Given the description of an element on the screen output the (x, y) to click on. 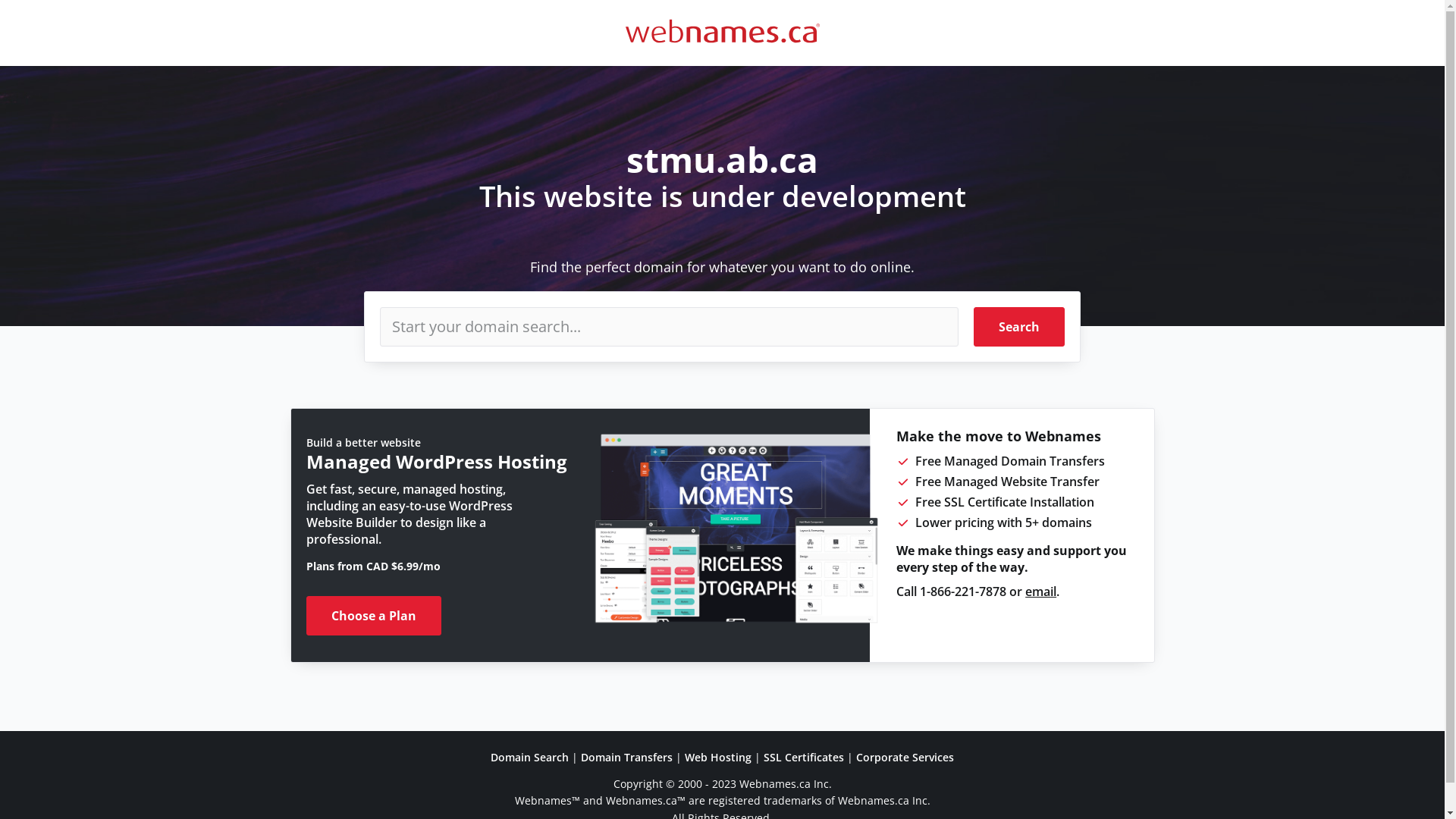
Search Element type: text (1018, 326)
Corporate Services Element type: text (904, 756)
1-866-221-7878 Element type: text (962, 591)
Choose a Plan Element type: text (373, 615)
SSL Certificates Element type: text (803, 756)
Domain Transfers Element type: text (626, 756)
email Element type: text (1040, 591)
Domain Search Element type: text (529, 756)
Web Hosting Element type: text (717, 756)
